Given the description of an element on the screen output the (x, y) to click on. 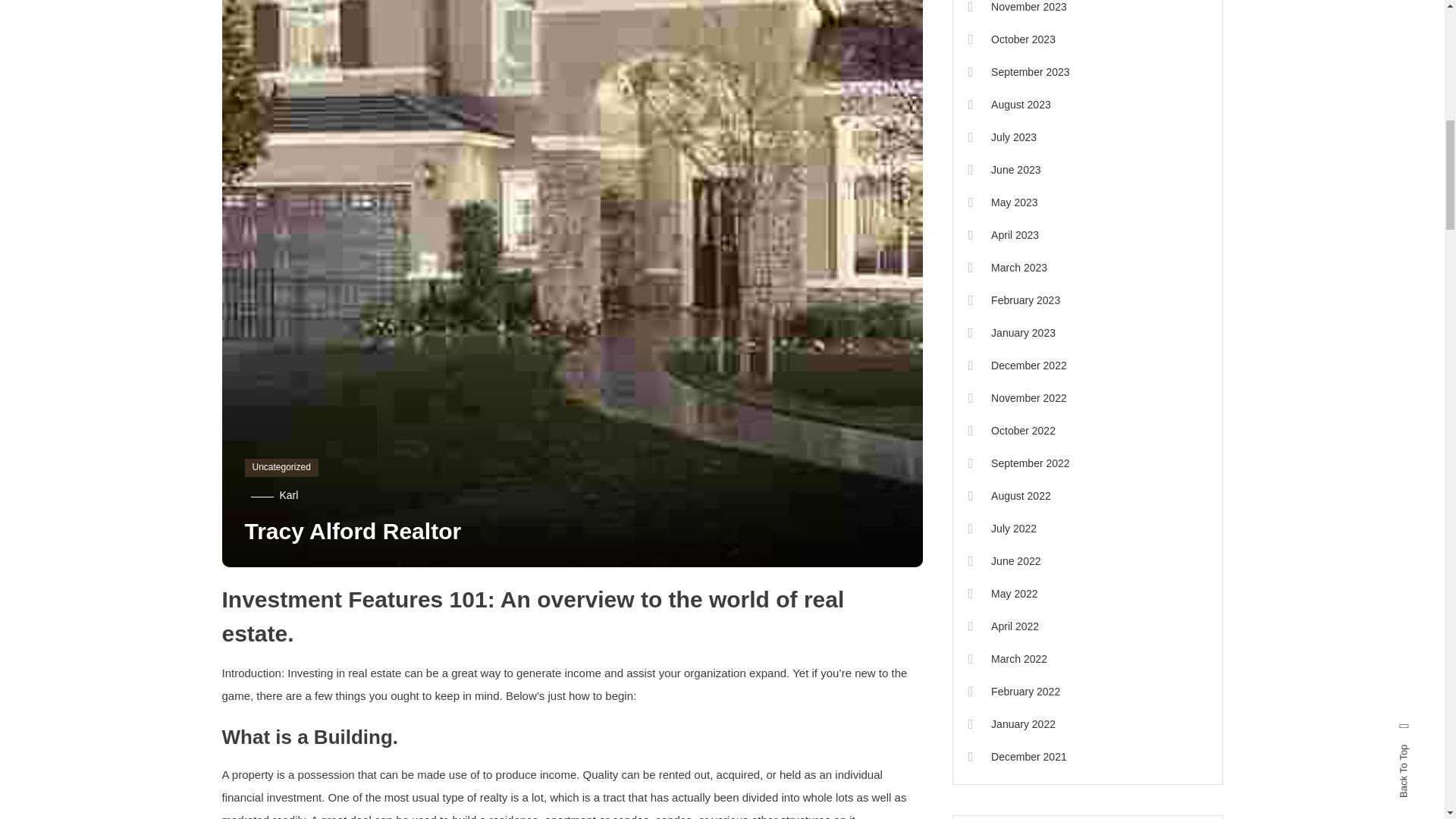
Uncategorized (280, 467)
Karl (288, 494)
